Given the description of an element on the screen output the (x, y) to click on. 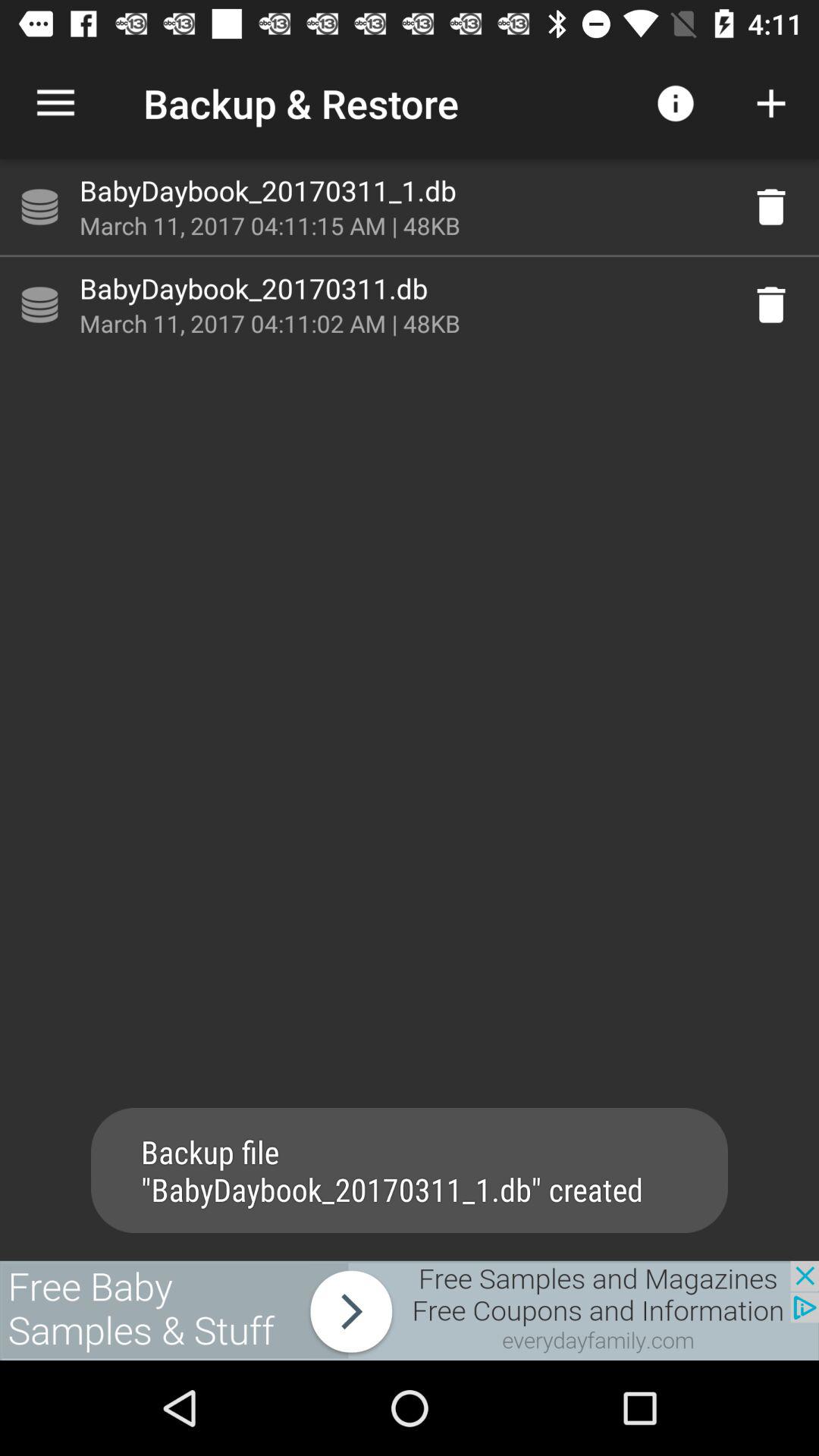
delete backup file (771, 206)
